Given the description of an element on the screen output the (x, y) to click on. 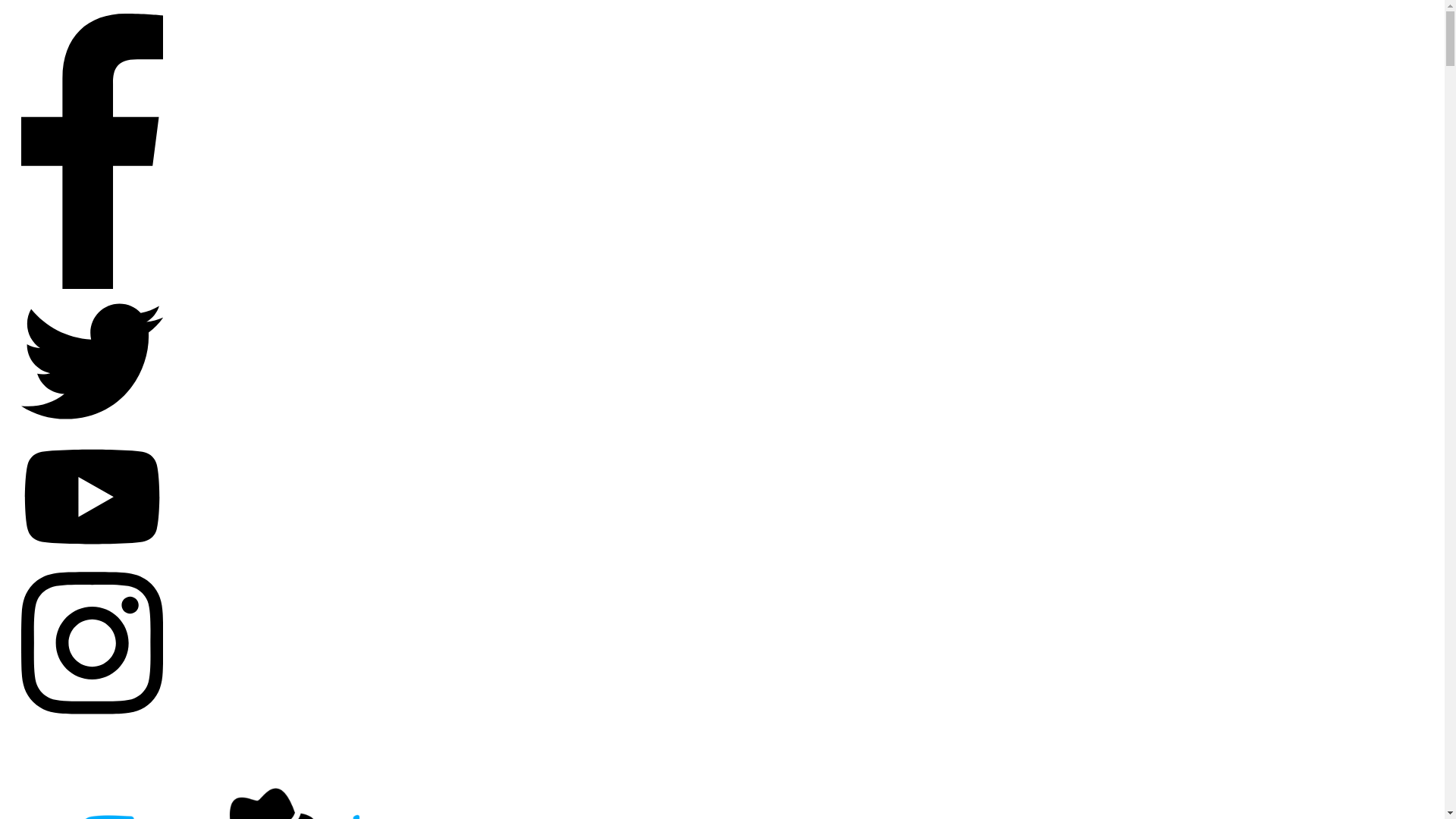
Protected by Grammarly Element type: hover (359, 227)
Protected by Grammarly Element type: hover (357, 166)
Protected by Grammarly Element type: hover (589, 88)
Protected by Grammarly Element type: hover (589, 53)
Protected by Grammarly Element type: hover (359, 191)
